Given the description of an element on the screen output the (x, y) to click on. 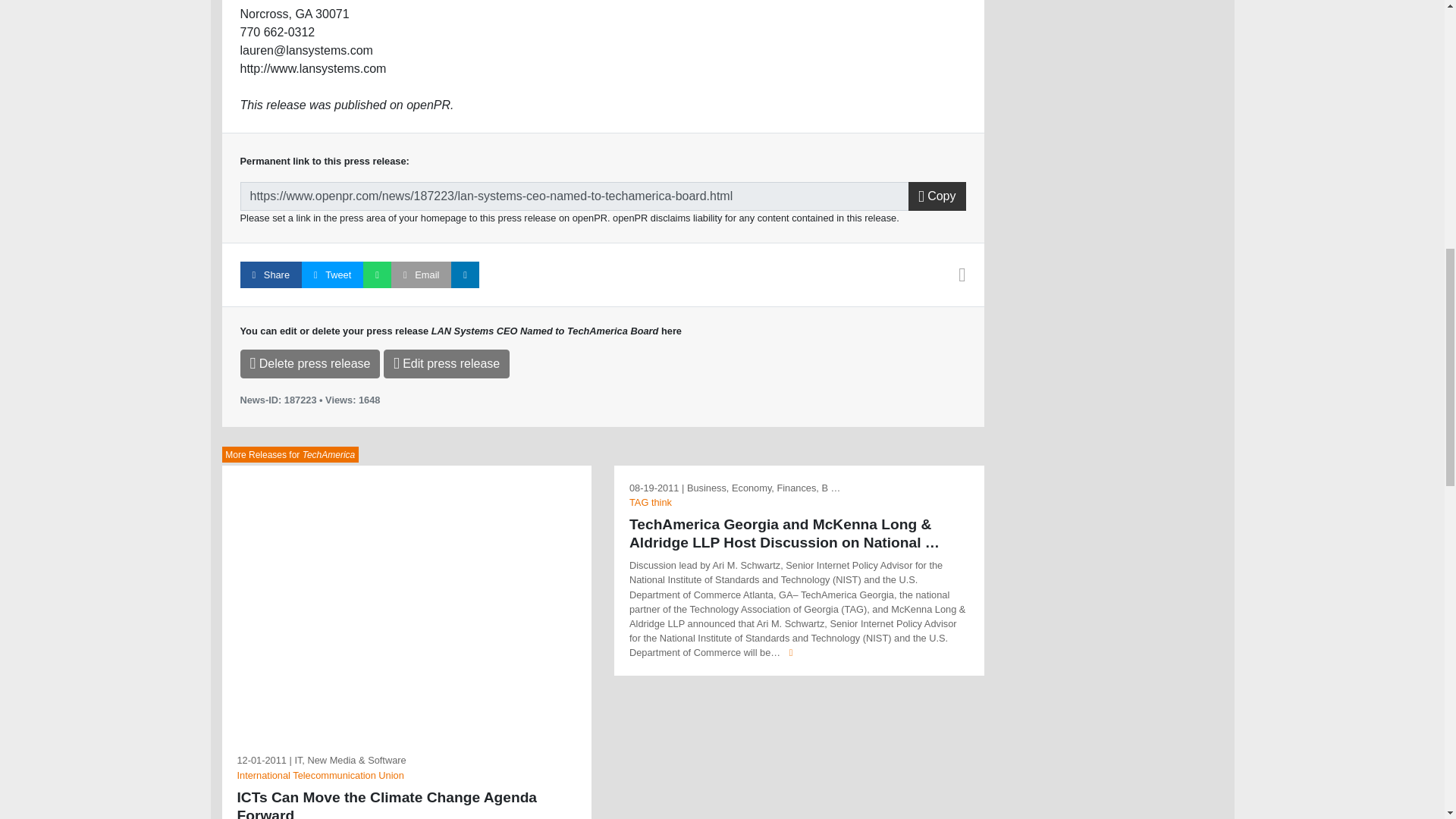
ICTs Can Move the Climate Change Agenda Forward (405, 803)
WhatsApp (376, 274)
Facebook (270, 274)
LinkedIn (465, 274)
Permalink (574, 195)
Email (421, 274)
